Given the description of an element on the screen output the (x, y) to click on. 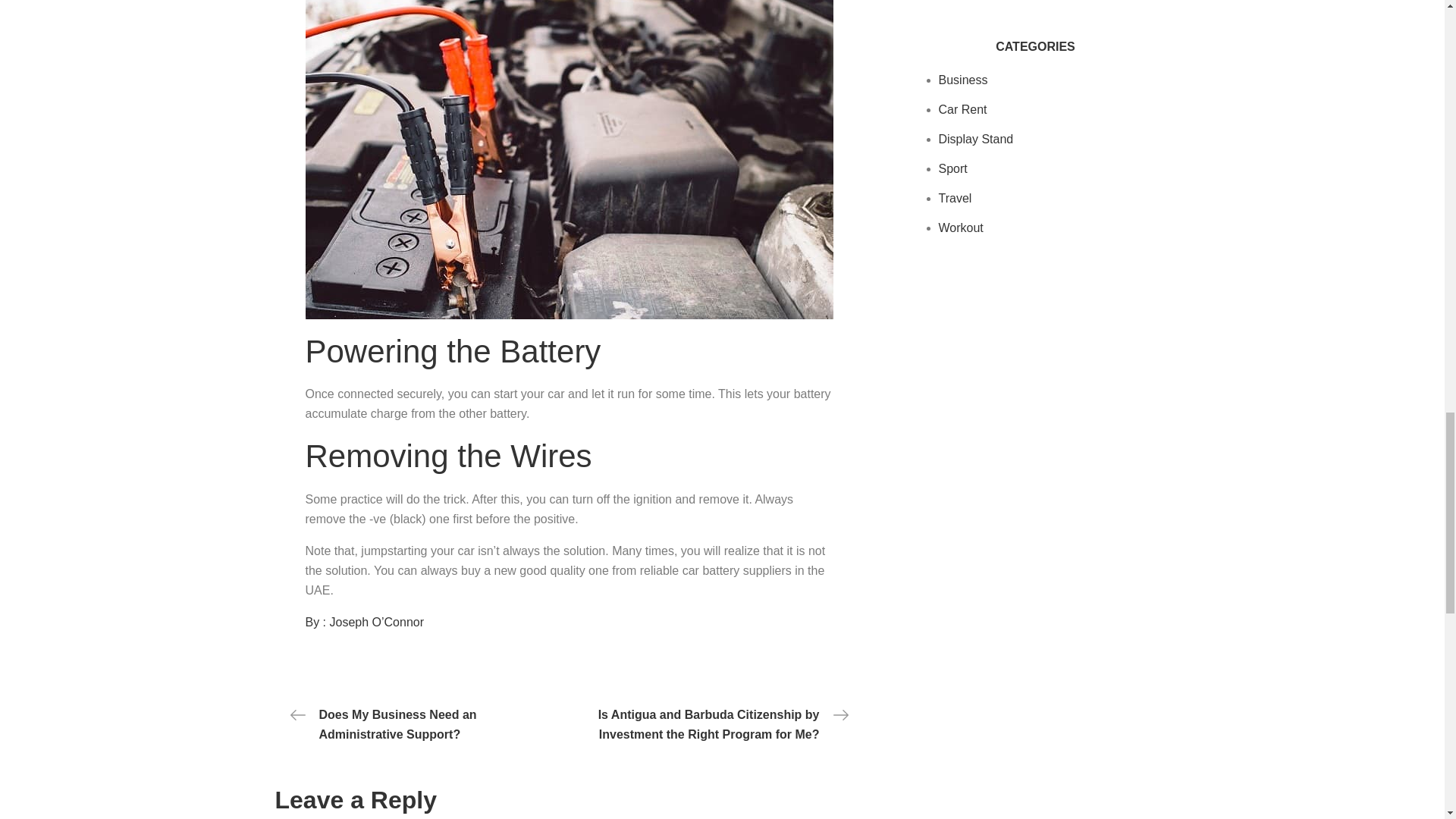
Sport (953, 168)
Business (963, 79)
Car Rent (963, 109)
Workout (961, 227)
Travel (955, 197)
Display Stand (976, 138)
